Given the description of an element on the screen output the (x, y) to click on. 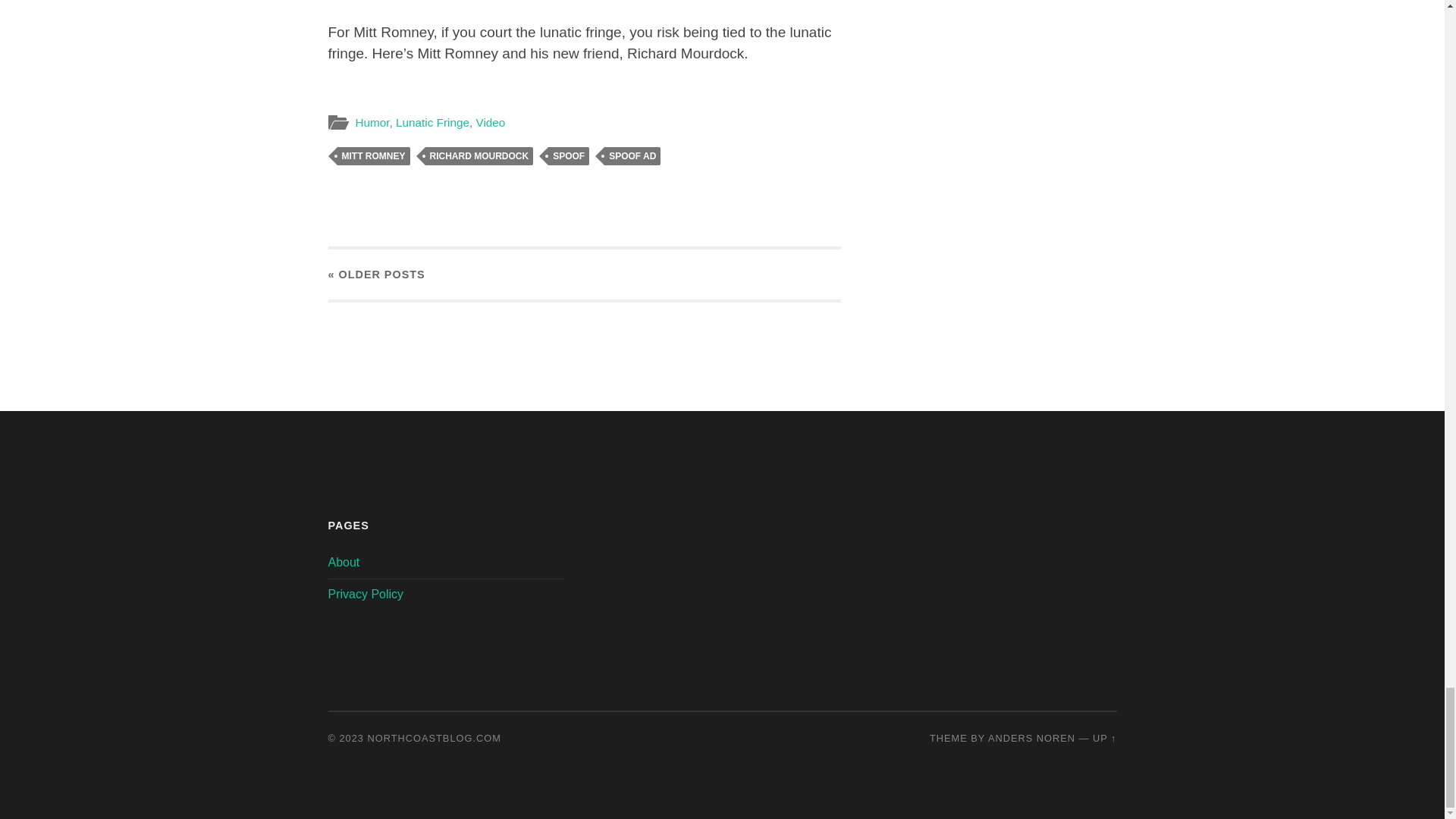
To the top (1104, 737)
